Given the description of an element on the screen output the (x, y) to click on. 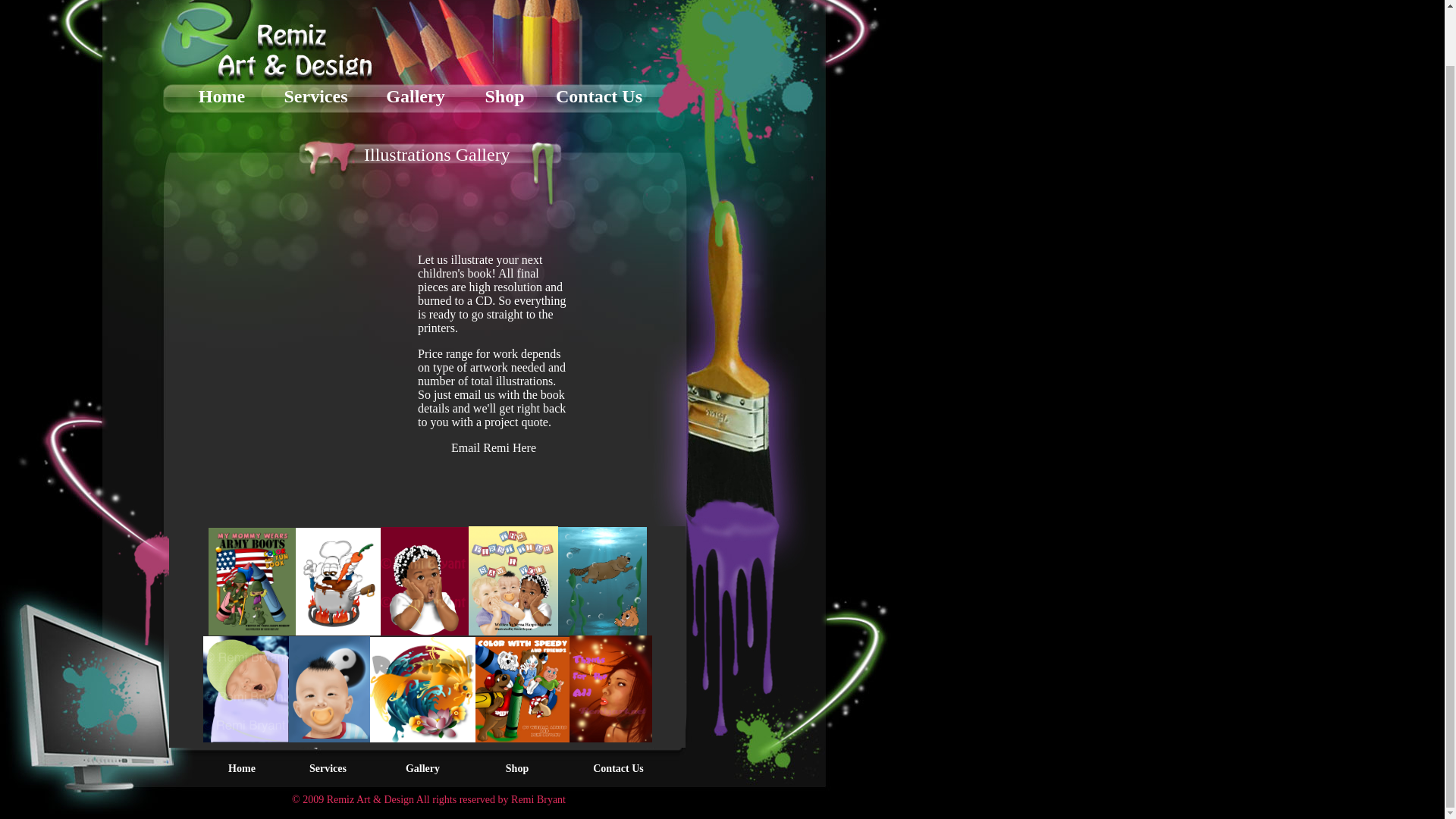
Services (315, 96)
Services (327, 767)
Contact Us (617, 767)
Gallery (414, 96)
Home (242, 767)
Home (221, 96)
Contact Us (599, 96)
Email Remi Here (493, 447)
Shop (504, 96)
Gallery (422, 767)
Shop (516, 767)
